Given the description of an element on the screen output the (x, y) to click on. 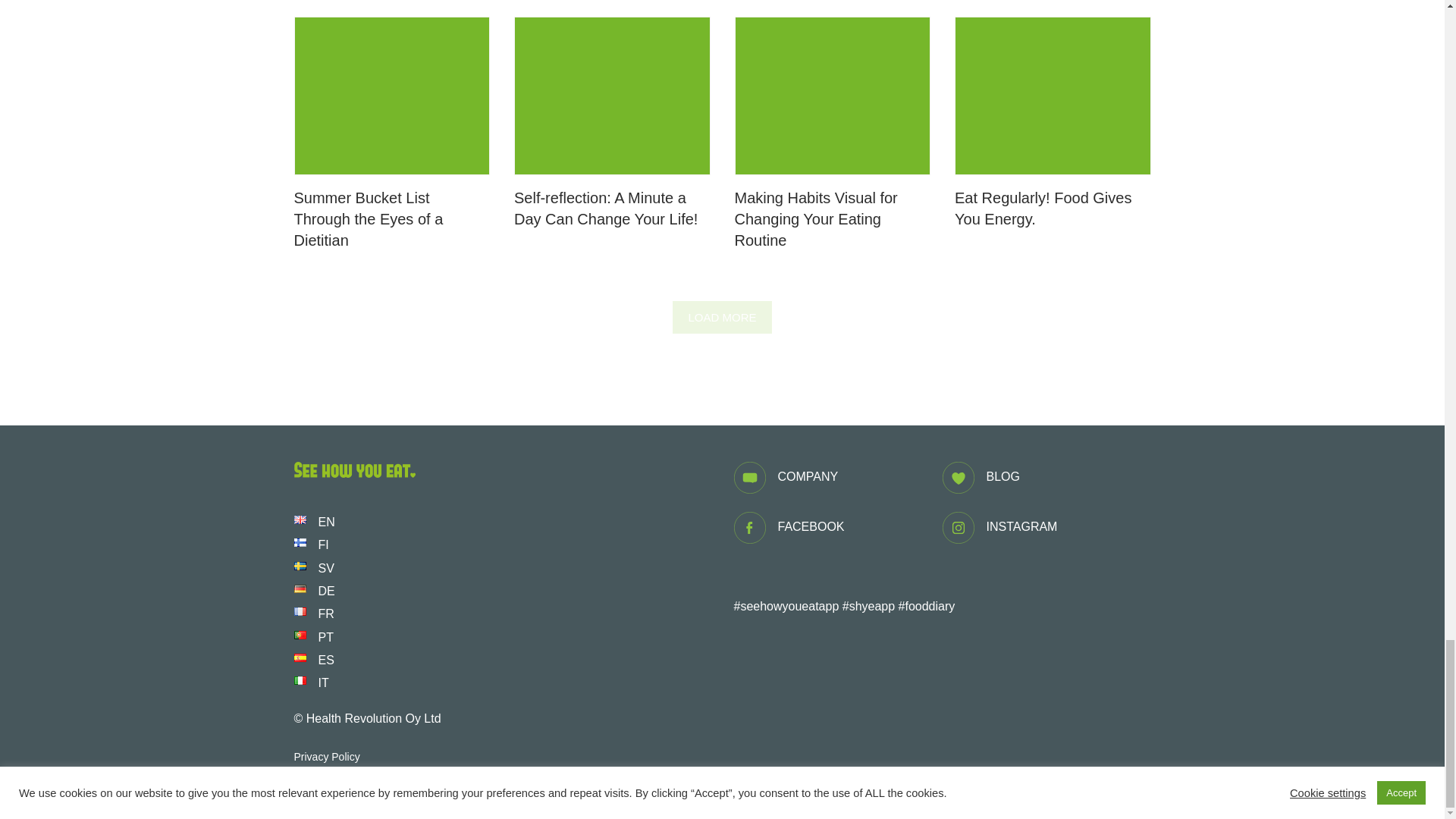
LOAD MORE (721, 317)
